Given the description of an element on the screen output the (x, y) to click on. 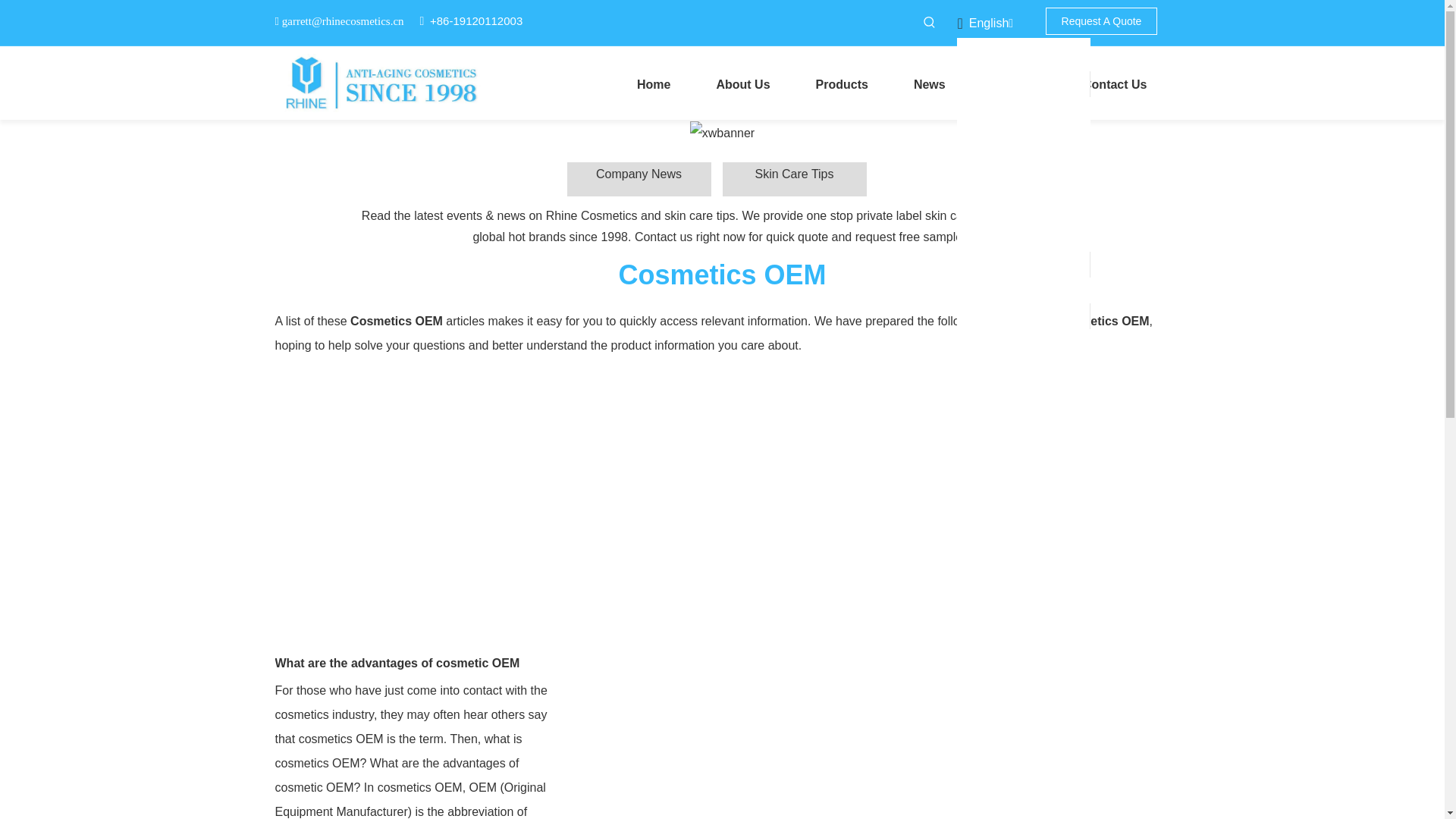
What are the advantages of cosmetic OEM (397, 662)
Deutsch (1028, 212)
Deutsch (1019, 212)
Company News (639, 179)
Products (842, 84)
Home (653, 84)
Skin Care Tips (794, 179)
News (929, 84)
Request A Quote (1101, 21)
Support (1013, 84)
